Given the description of an element on the screen output the (x, y) to click on. 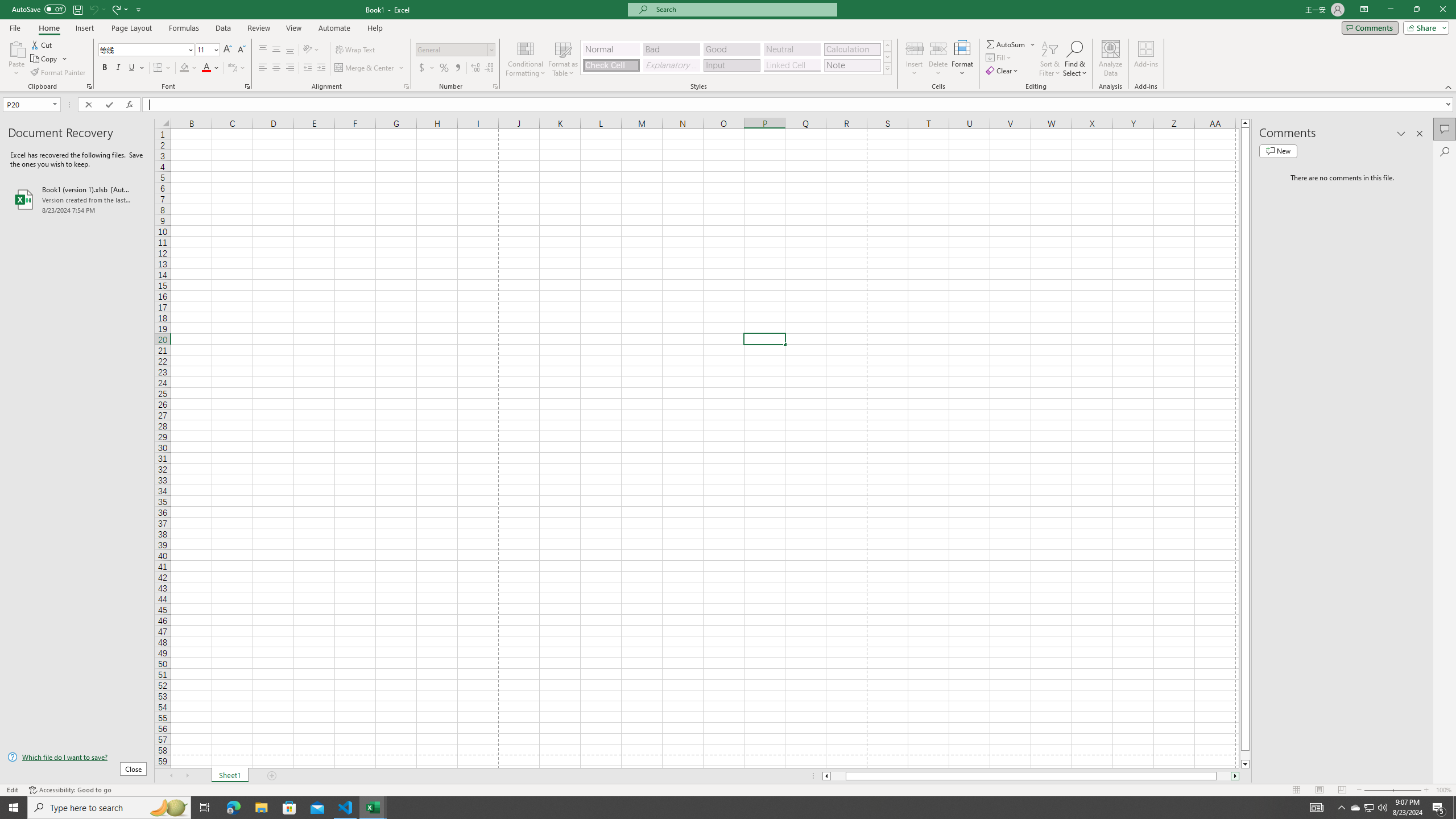
Decrease Decimal (489, 67)
Format Cell Font (247, 85)
Fill Color (188, 67)
Font (147, 49)
Copy (49, 58)
Fill Color RGB(255, 255, 0) (183, 67)
Find & Select (1075, 58)
Paste (16, 48)
Delete Cells... (938, 48)
